Given the description of an element on the screen output the (x, y) to click on. 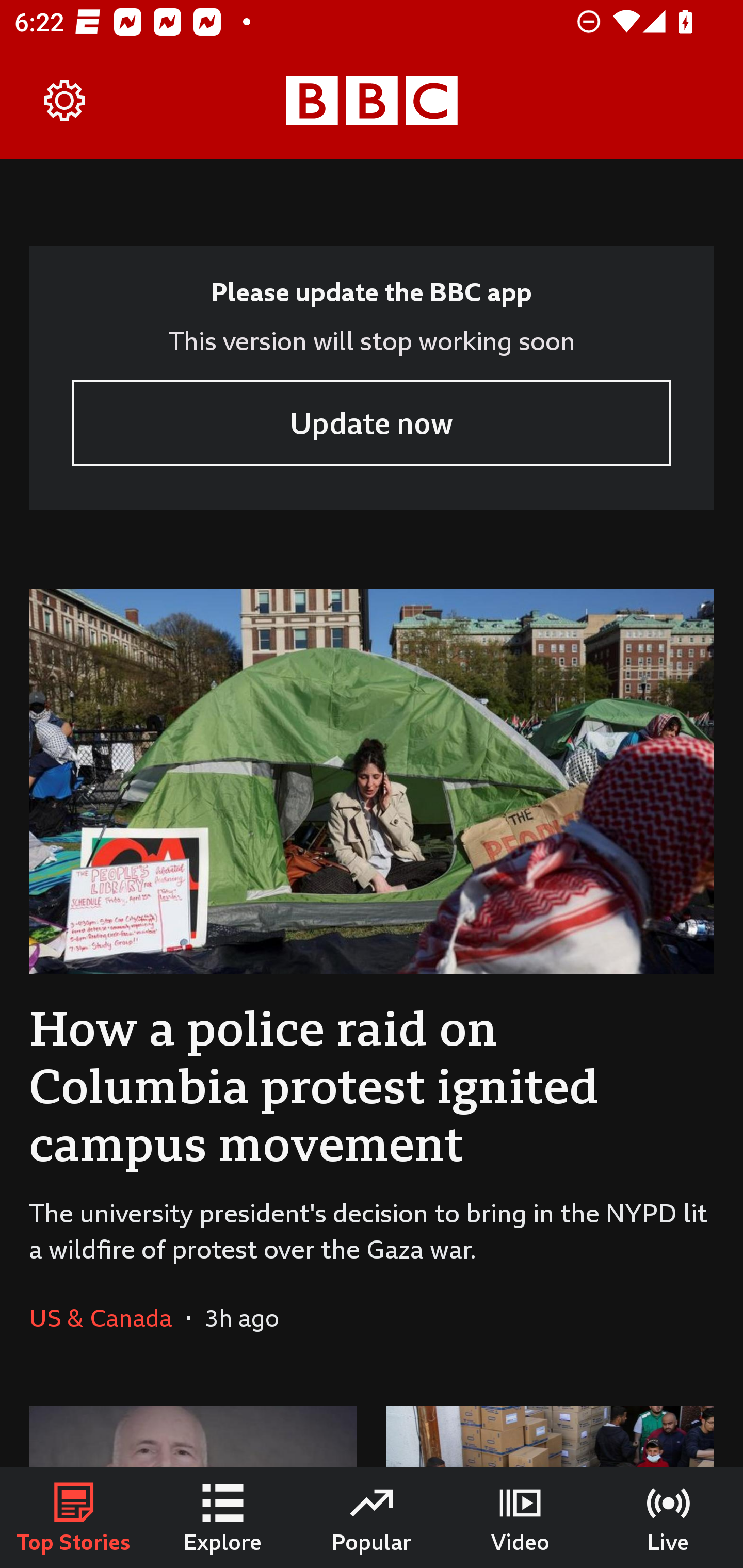
Settings (64, 100)
Update now (371, 422)
US & Canada In the section US & Canada (107, 1317)
Explore (222, 1517)
Popular (371, 1517)
Video (519, 1517)
Live (668, 1517)
